Given the description of an element on the screen output the (x, y) to click on. 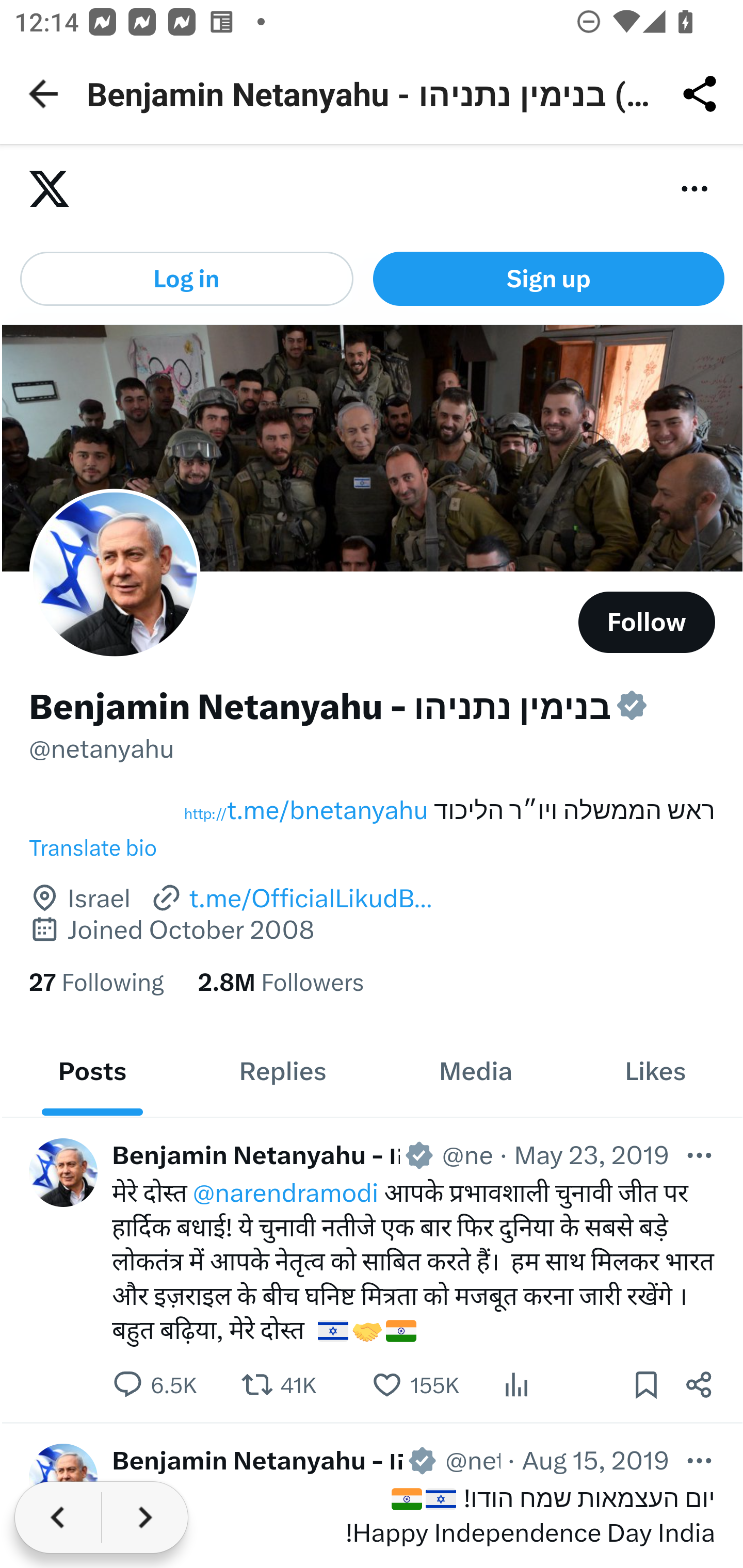
Follow @netanyahu (647, 621)
Provides details about verified accounts. (631, 705)
@netanyahu (101, 748)
t.me/bnetanyahu (305, 810)
Translate bio (372, 848)
t.me/OfficialLikudB… (291, 898)
27 Following 27   Following (96, 982)
2.8M Followers 2.8M   Followers (280, 982)
Posts (92, 1070)
Replies (283, 1070)
Media (475, 1070)
Likes (654, 1070)
@netanyahu (467, 1154)
May 23, 2019 (590, 1154)
More (699, 1154)
@narendramodi (284, 1192)
6546 Replies. Reply (155, 1383)
41901 reposts. Repost (278, 1383)
155300 Likes. Like (414, 1383)
View post analytics (516, 1383)
Bookmark (645, 1383)
Share post (699, 1383)
@netanyahu (473, 1460)
Aug 15, 2019 (594, 1460)
More (699, 1460)
